Given the description of an element on the screen output the (x, y) to click on. 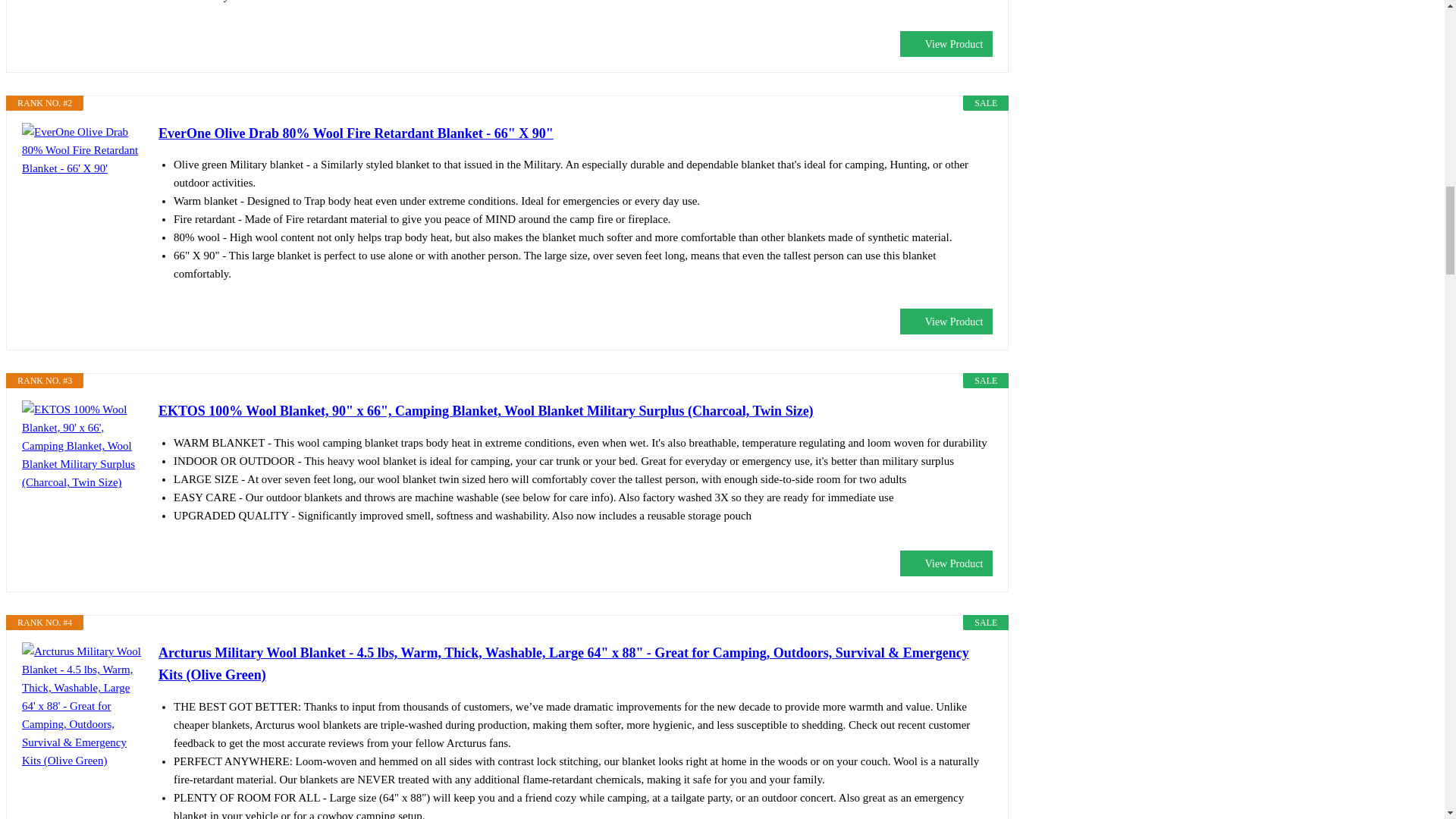
View Product (945, 43)
Amazon Prime (971, 539)
View Product (945, 321)
Amazon Prime (971, 19)
Amazon Prime (971, 297)
